Given the description of an element on the screen output the (x, y) to click on. 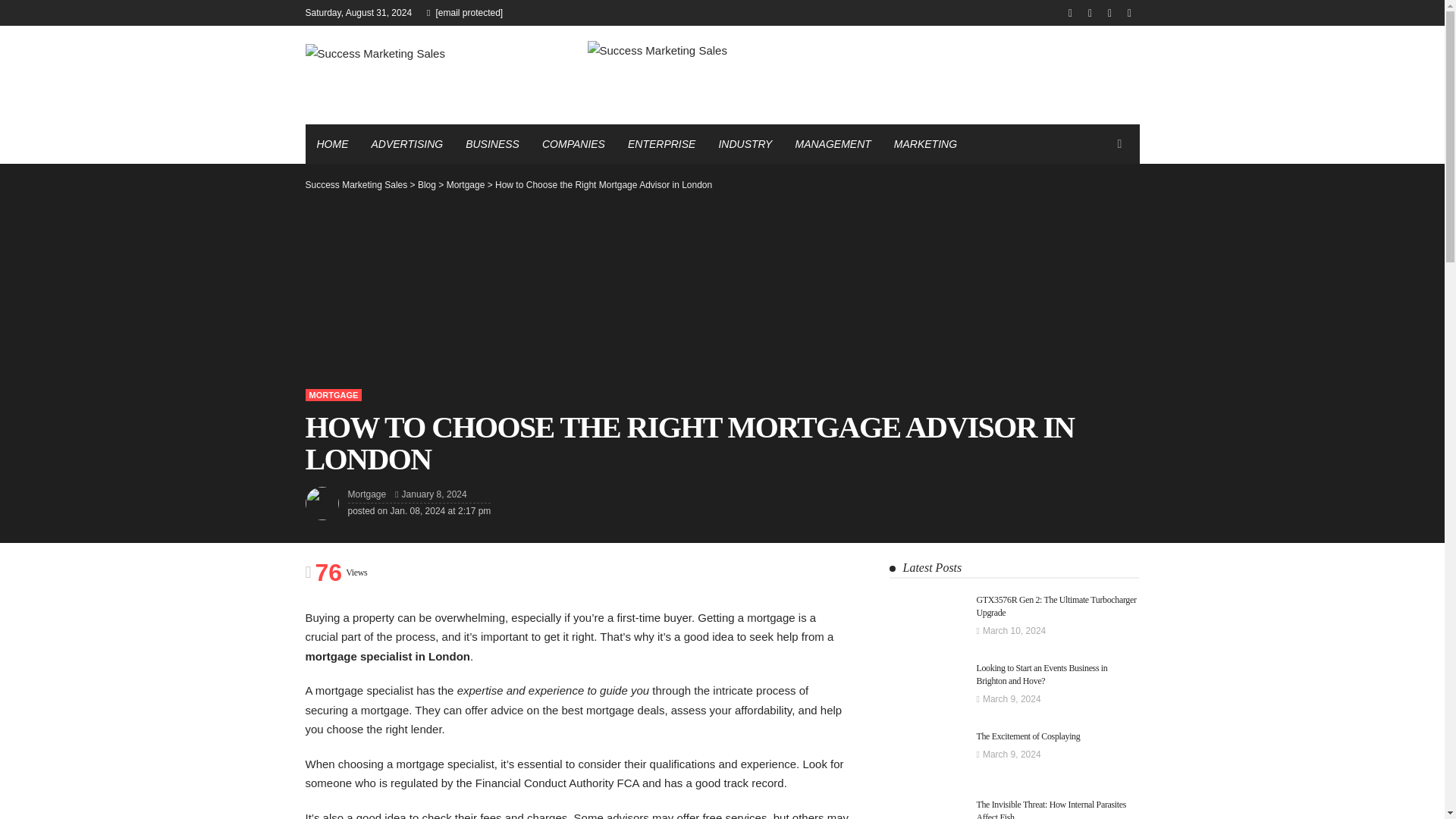
ADVERTISING (406, 143)
Go to the Mortgage Category archives. (465, 184)
BUSINESS (492, 143)
search (1118, 143)
MORTGAGE (332, 395)
Mortgage (366, 494)
HOME (331, 143)
MANAGEMENT (832, 143)
Mortgage (332, 395)
COMPANIES (573, 143)
